Given the description of an element on the screen output the (x, y) to click on. 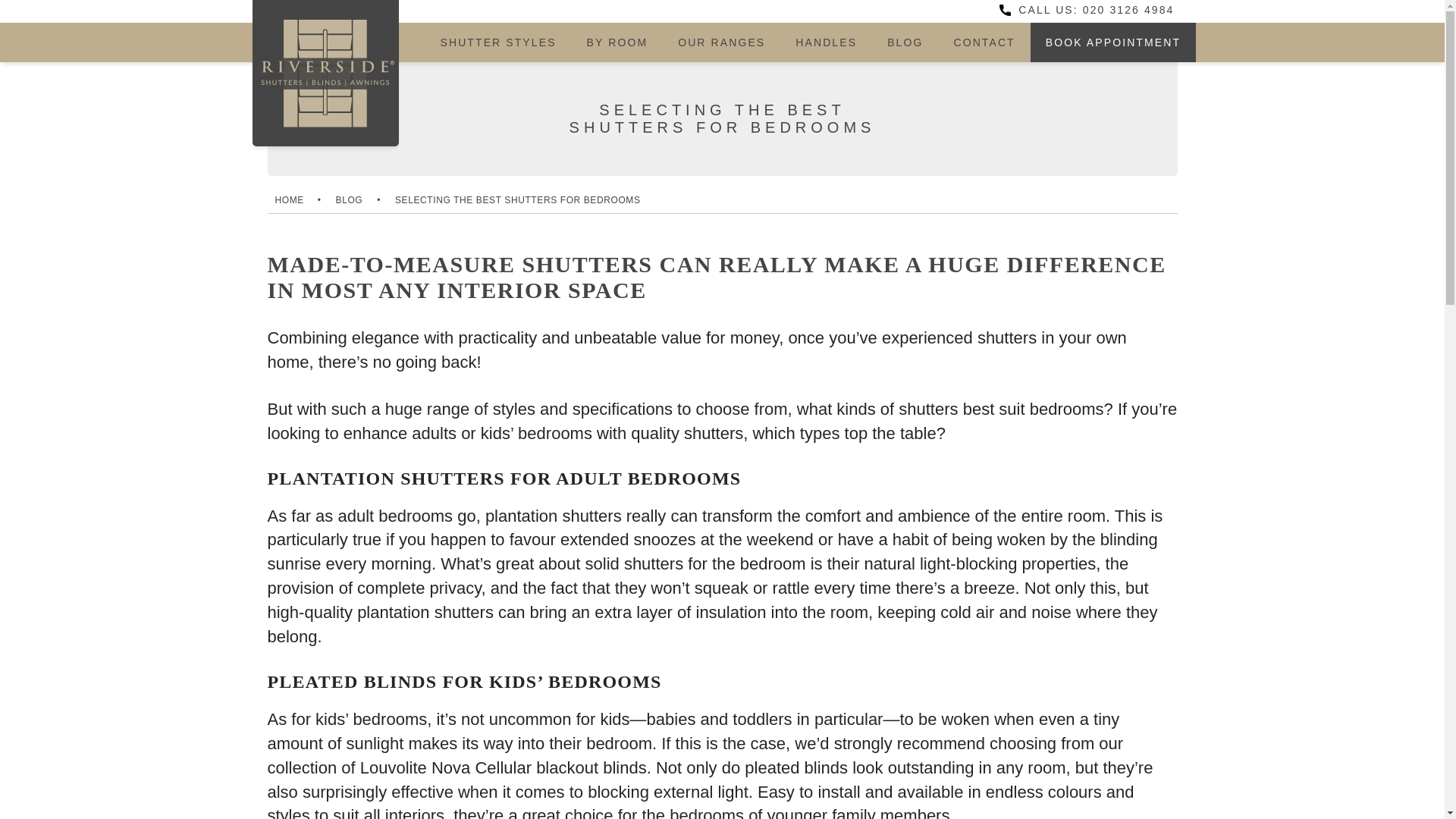
CONTACT (983, 42)
OUR RANGES (721, 42)
HANDLES (826, 42)
BOOK APPOINTMENT (1112, 42)
CALL US: 020 3126 4984 (1085, 9)
BLOG (904, 42)
BY ROOM (617, 42)
SHUTTER STYLES (497, 42)
